Given the description of an element on the screen output the (x, y) to click on. 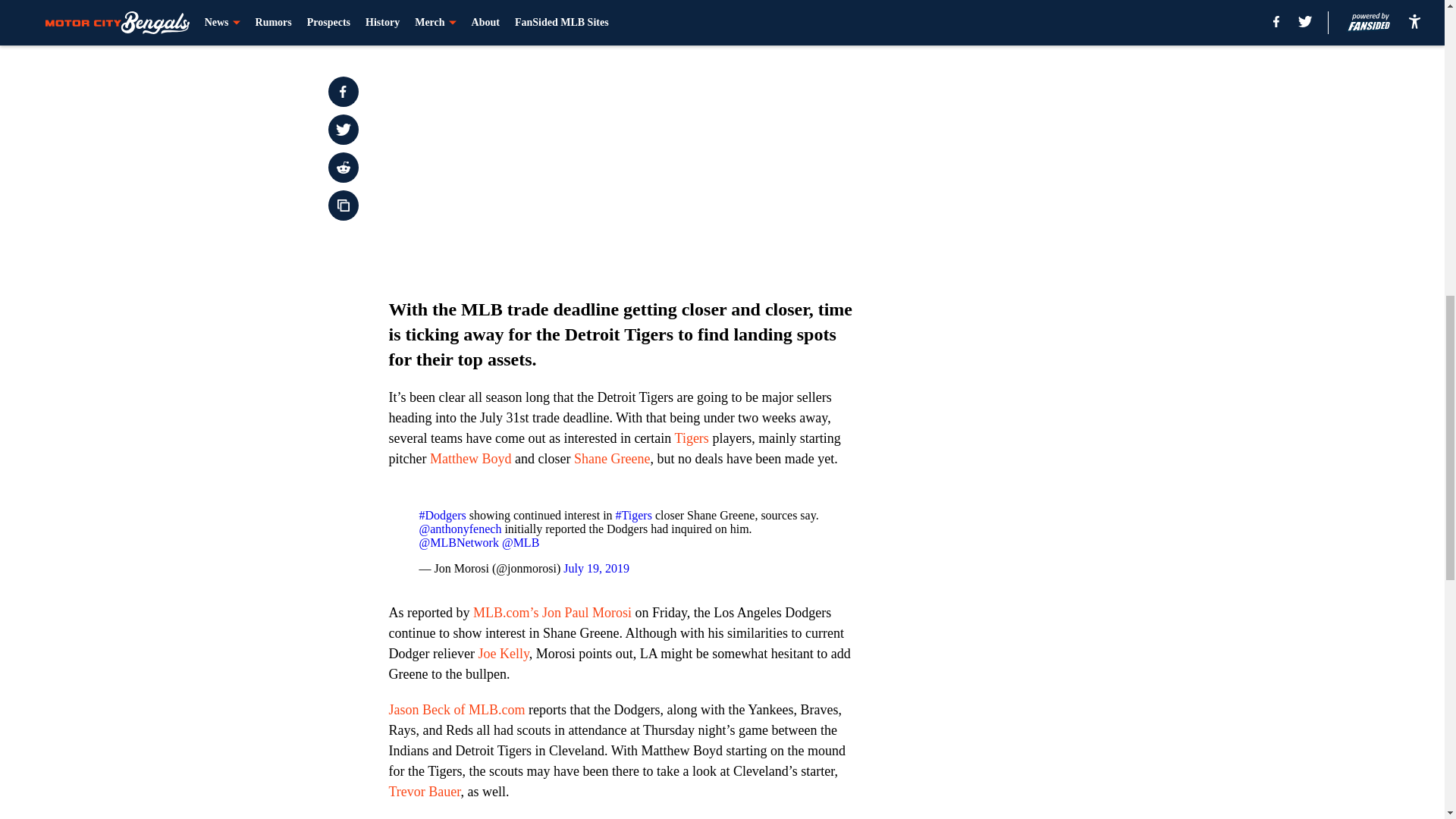
Tigers (692, 437)
Trevor Bauer (424, 791)
Matthew Boyd (470, 458)
Jason Beck of MLB.com (456, 709)
Shane Greene (611, 458)
July 19, 2019 (595, 567)
Joe Kelly (502, 653)
